Given the description of an element on the screen output the (x, y) to click on. 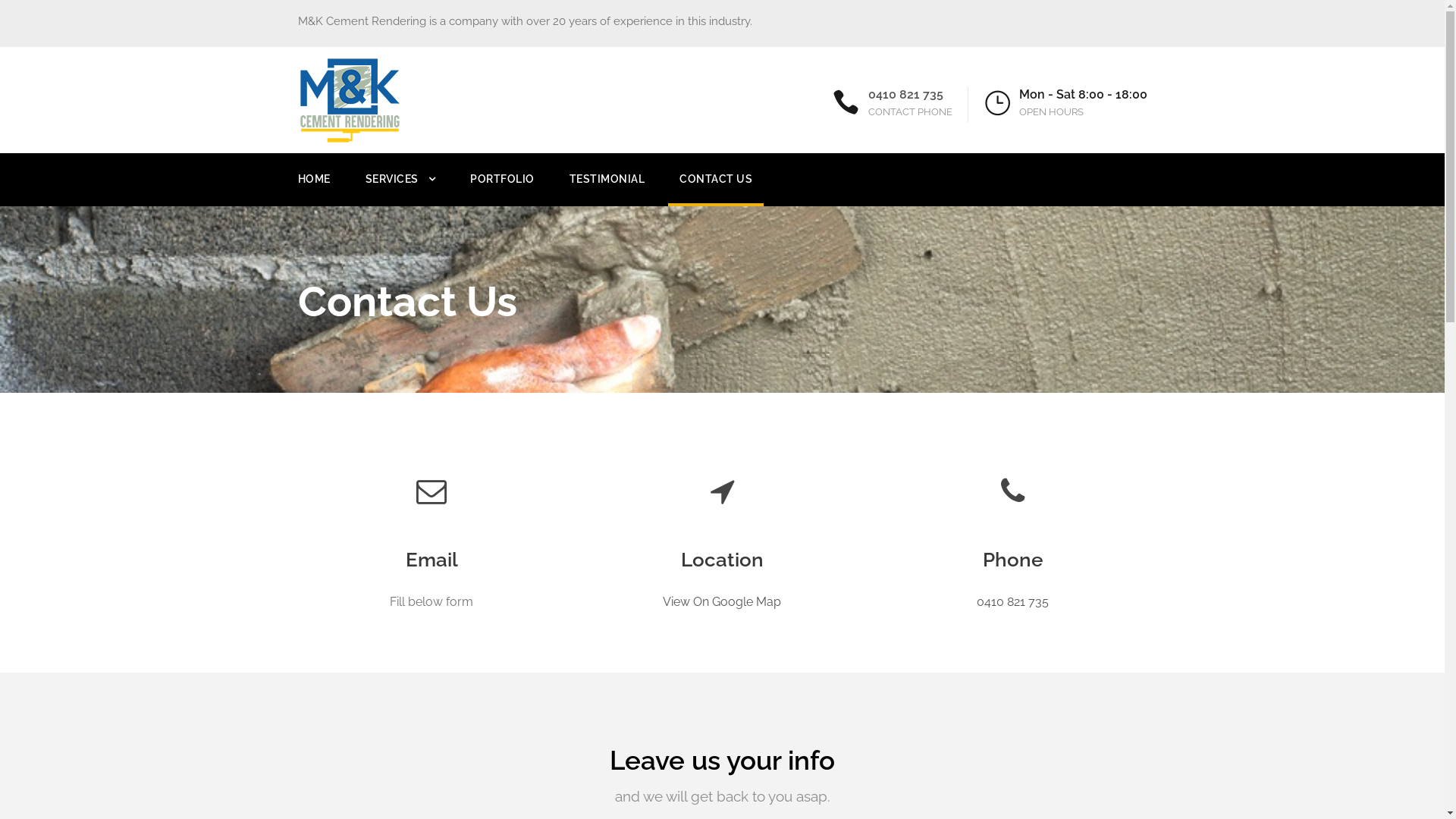
PORTFOLIO Element type: text (502, 188)
CONTACT US Element type: text (715, 188)
0410 821 735 Element type: text (1012, 601)
TESTIMONIAL Element type: text (606, 188)
View On Google Map Element type: text (721, 601)
SERVICES Element type: text (400, 188)
0410 821 735 Element type: text (904, 94)
HOME Element type: text (313, 188)
